Given the description of an element on the screen output the (x, y) to click on. 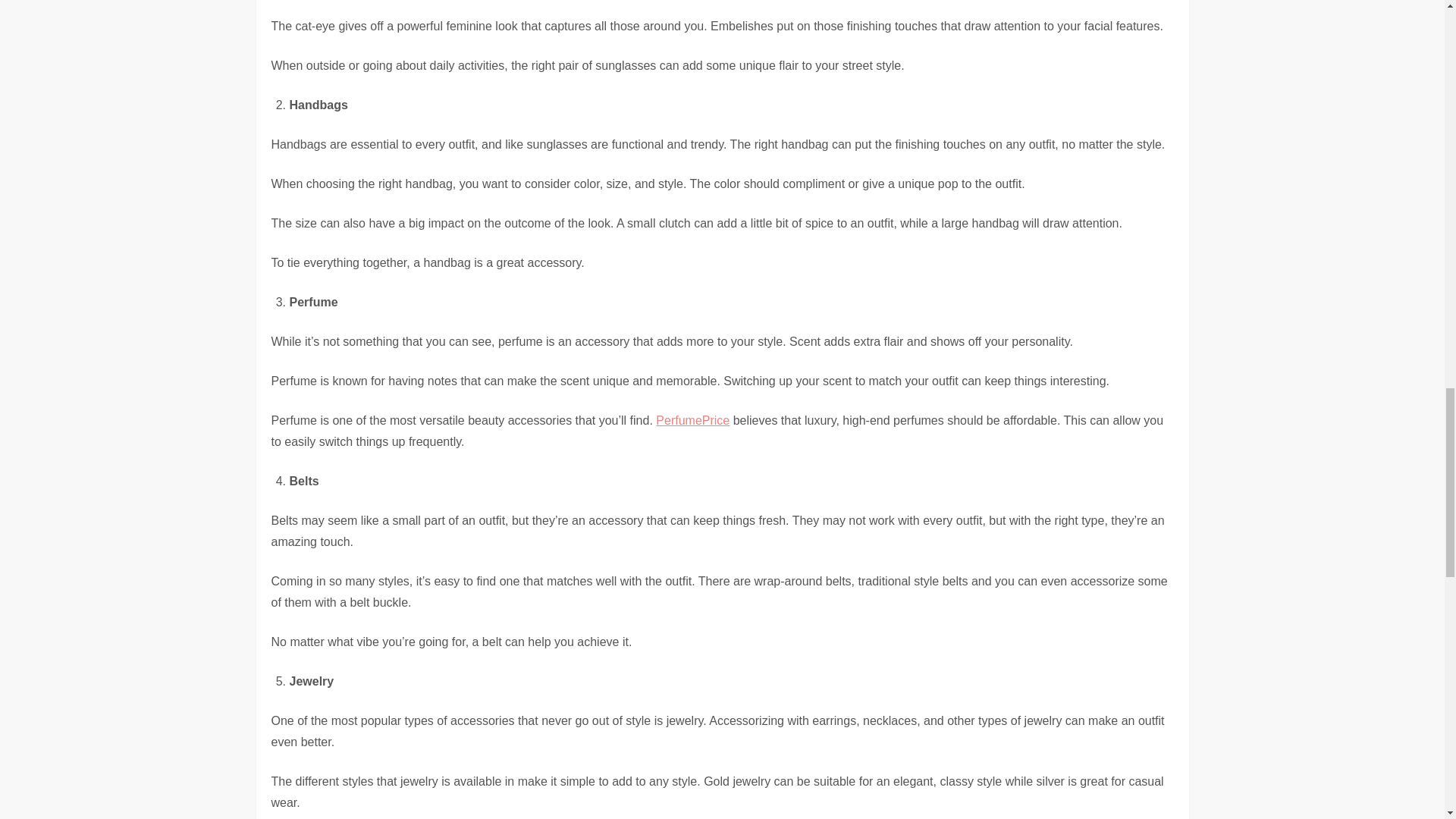
PerfumePrice (692, 420)
